Given the description of an element on the screen output the (x, y) to click on. 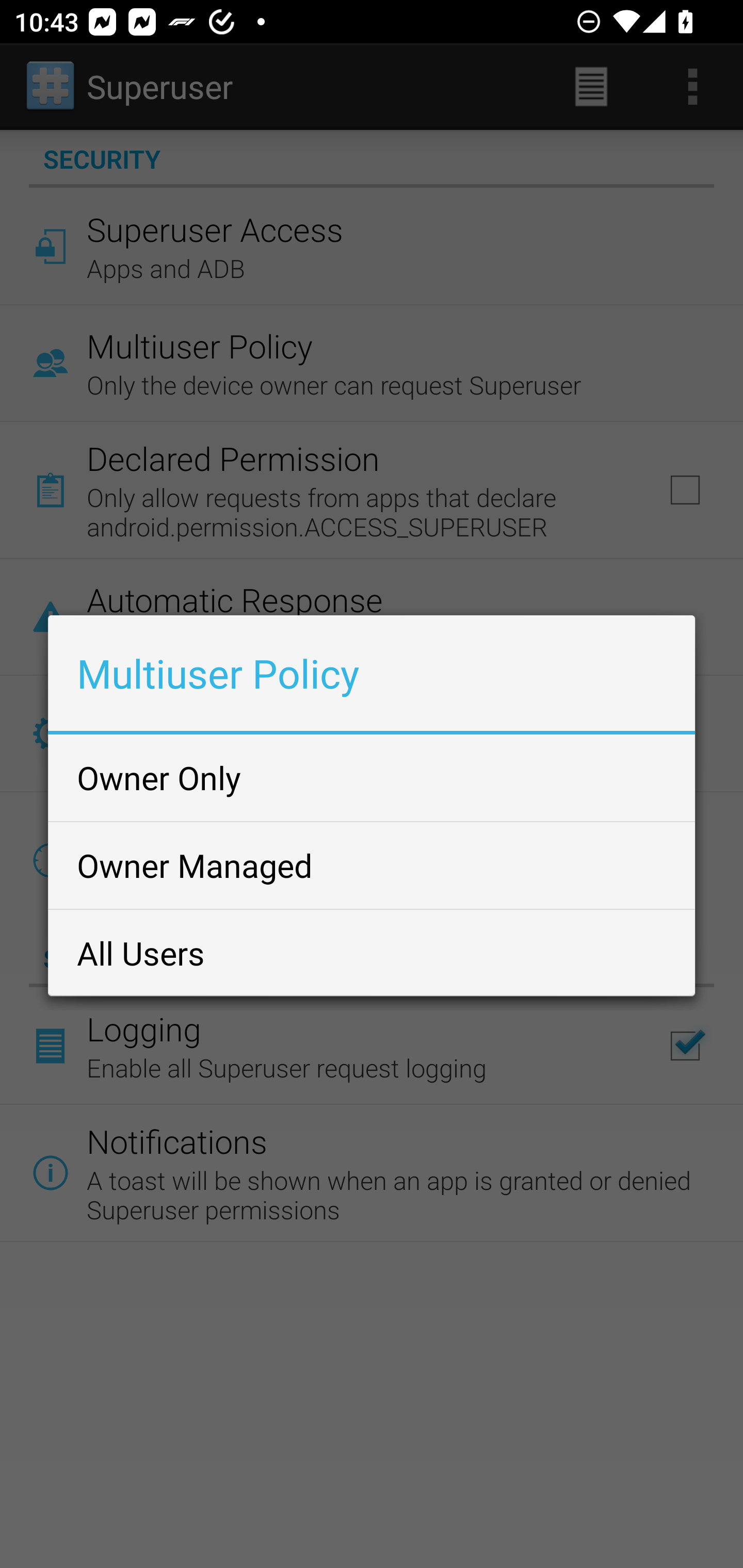
Owner Only (371, 777)
Owner Managed (371, 865)
All Users (371, 952)
